Given the description of an element on the screen output the (x, y) to click on. 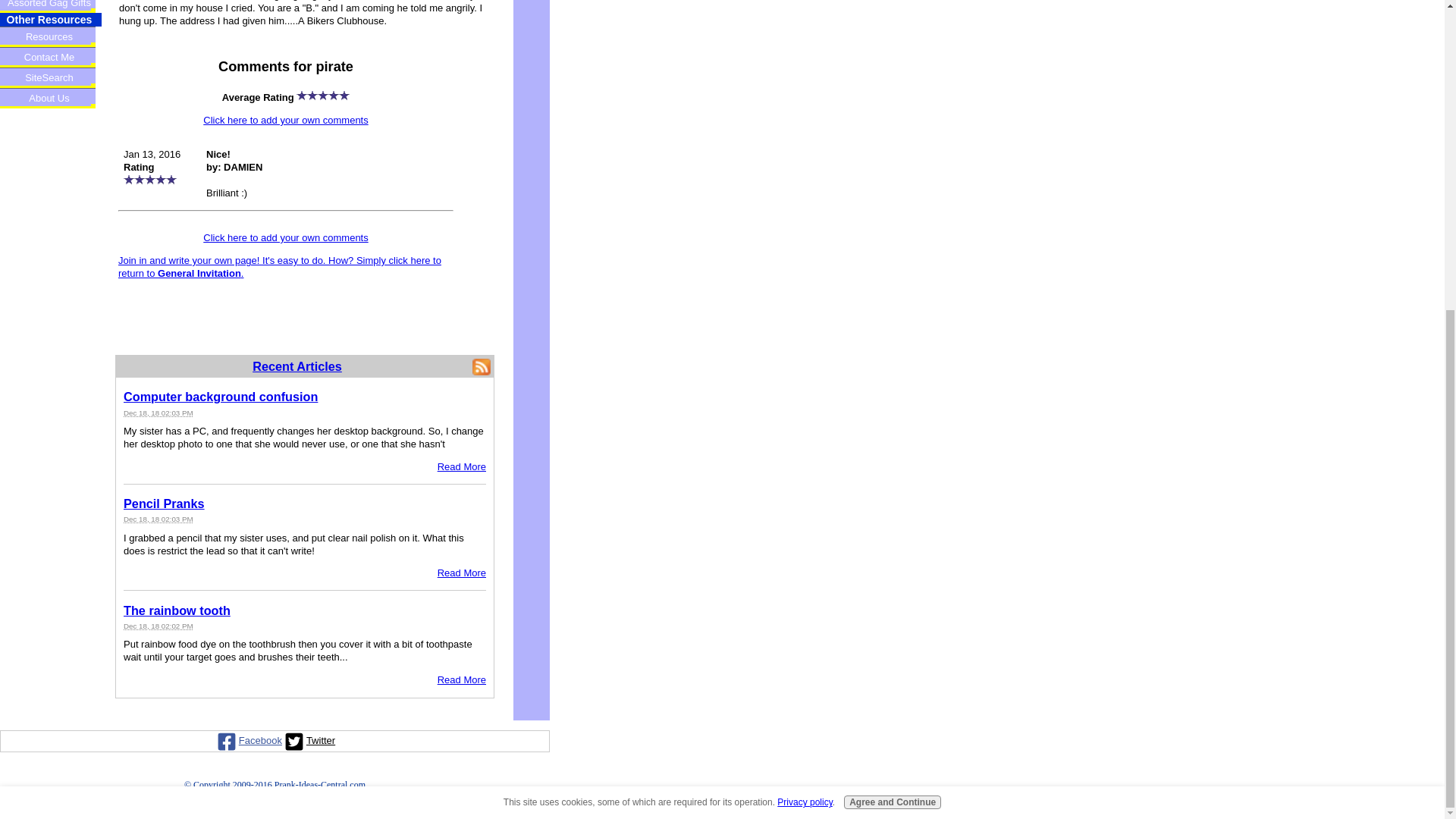
Recent Articles (296, 366)
Click here to add your own comments (285, 237)
Computer background confusion (220, 396)
2018-12-18T14:03:23-0500 (158, 519)
Contact Me (50, 56)
Read More (462, 572)
Facebook (248, 741)
The rainbow tooth (176, 610)
Read More (462, 466)
2018-12-18T14:02:07-0500 (158, 625)
Resources (50, 36)
About Us (50, 97)
Assorted Gag Gifts (50, 6)
Read More (462, 679)
